Given the description of an element on the screen output the (x, y) to click on. 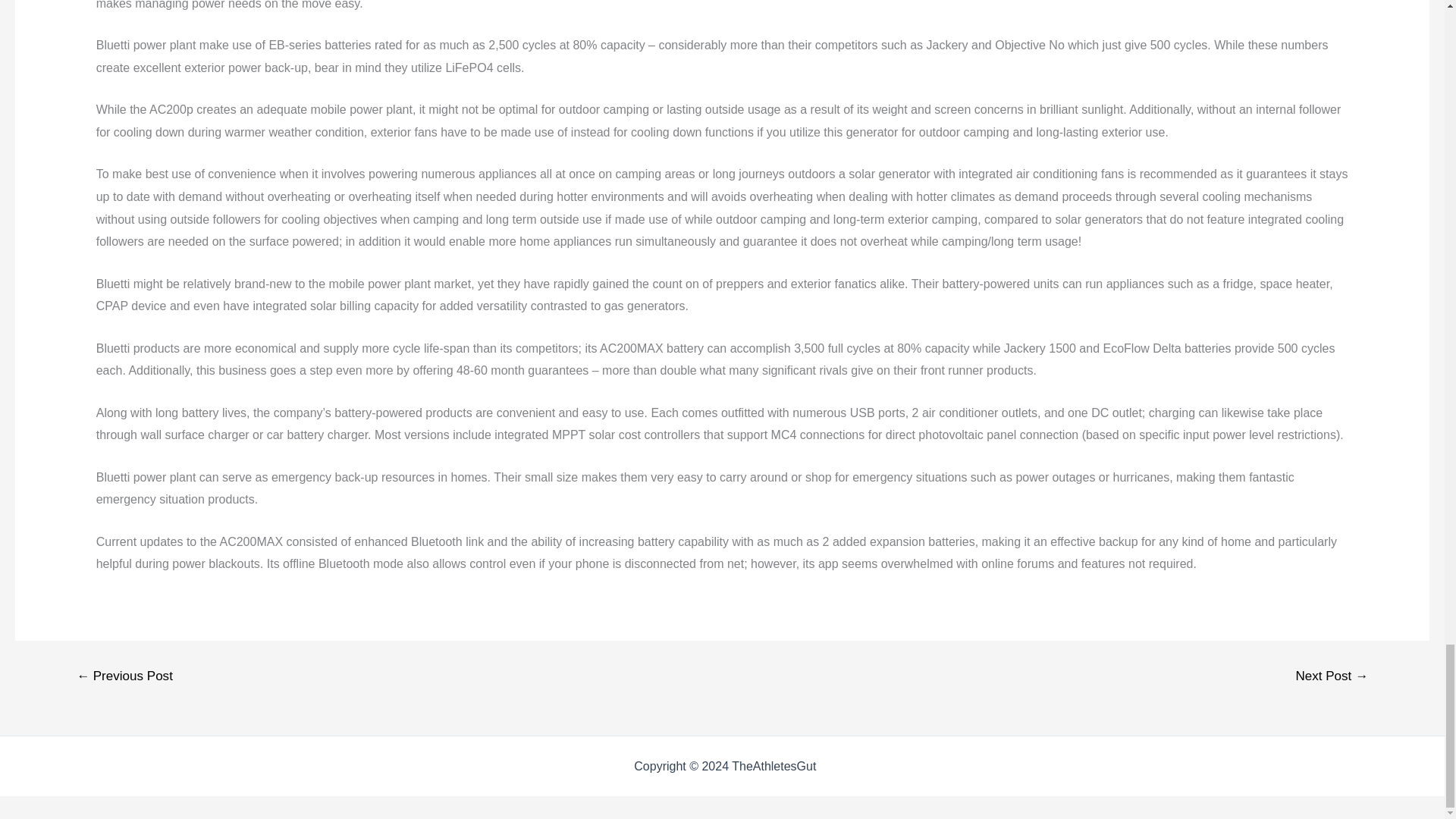
Sitemap (841, 766)
